Given the description of an element on the screen output the (x, y) to click on. 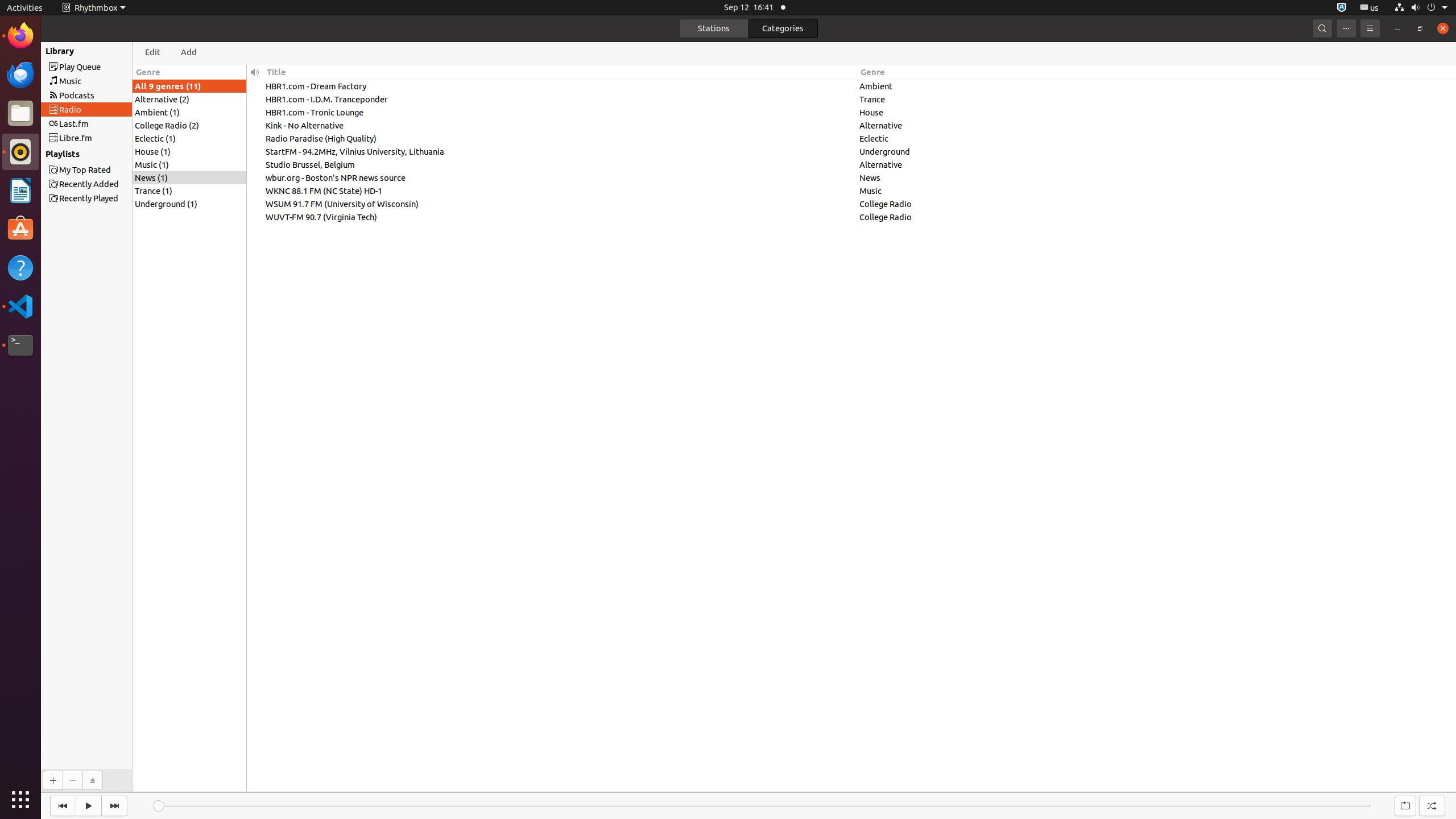
Podcasts Element type: table-cell (106, 94)
Library Element type: table-cell (53, 50)
StartFM - 94.2MHz, Vilnius University, Lithuania Element type: table-cell (559, 151)
WSUM 91.7 FM (University of Wisconsin) Element type: table-cell (559, 203)
News (1) Element type: table-cell (189, 177)
